Given the description of an element on the screen output the (x, y) to click on. 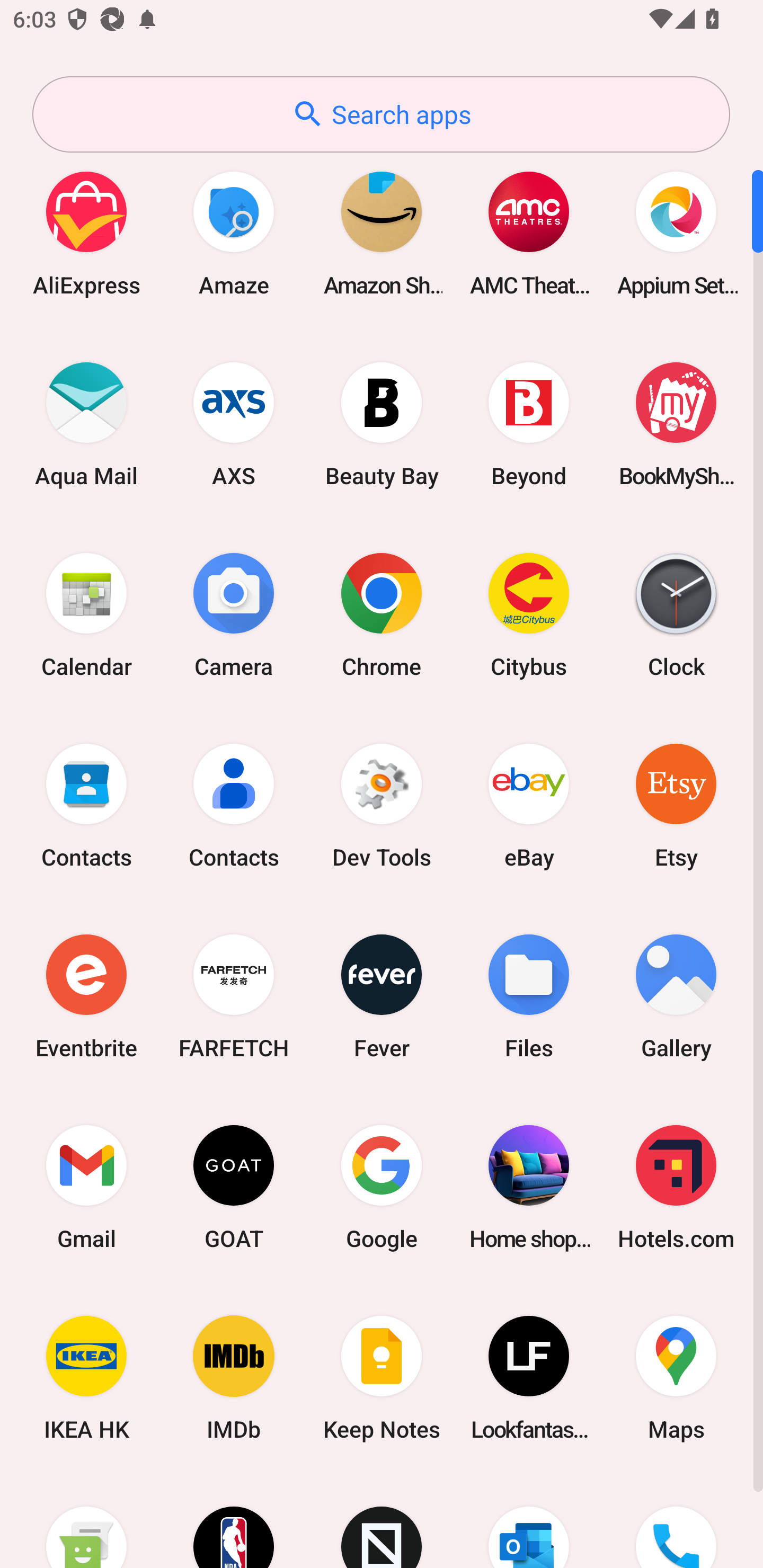
  Search apps (381, 114)
AliExpress (86, 233)
Amaze (233, 233)
Amazon Shopping (381, 233)
AMC Theatres (528, 233)
Appium Settings (676, 233)
Aqua Mail (86, 424)
AXS (233, 424)
Beauty Bay (381, 424)
Beyond (528, 424)
BookMyShow (676, 424)
Calendar (86, 614)
Camera (233, 614)
Chrome (381, 614)
Citybus (528, 614)
Clock (676, 614)
Contacts (86, 805)
Contacts (233, 805)
Dev Tools (381, 805)
eBay (528, 805)
Etsy (676, 805)
Eventbrite (86, 996)
FARFETCH (233, 996)
Fever (381, 996)
Files (528, 996)
Gallery (676, 996)
Gmail (86, 1186)
GOAT (233, 1186)
Google (381, 1186)
Home shopping (528, 1186)
Hotels.com (676, 1186)
IKEA HK (86, 1377)
IMDb (233, 1377)
Keep Notes (381, 1377)
Lookfantastic (528, 1377)
Maps (676, 1377)
